Given the description of an element on the screen output the (x, y) to click on. 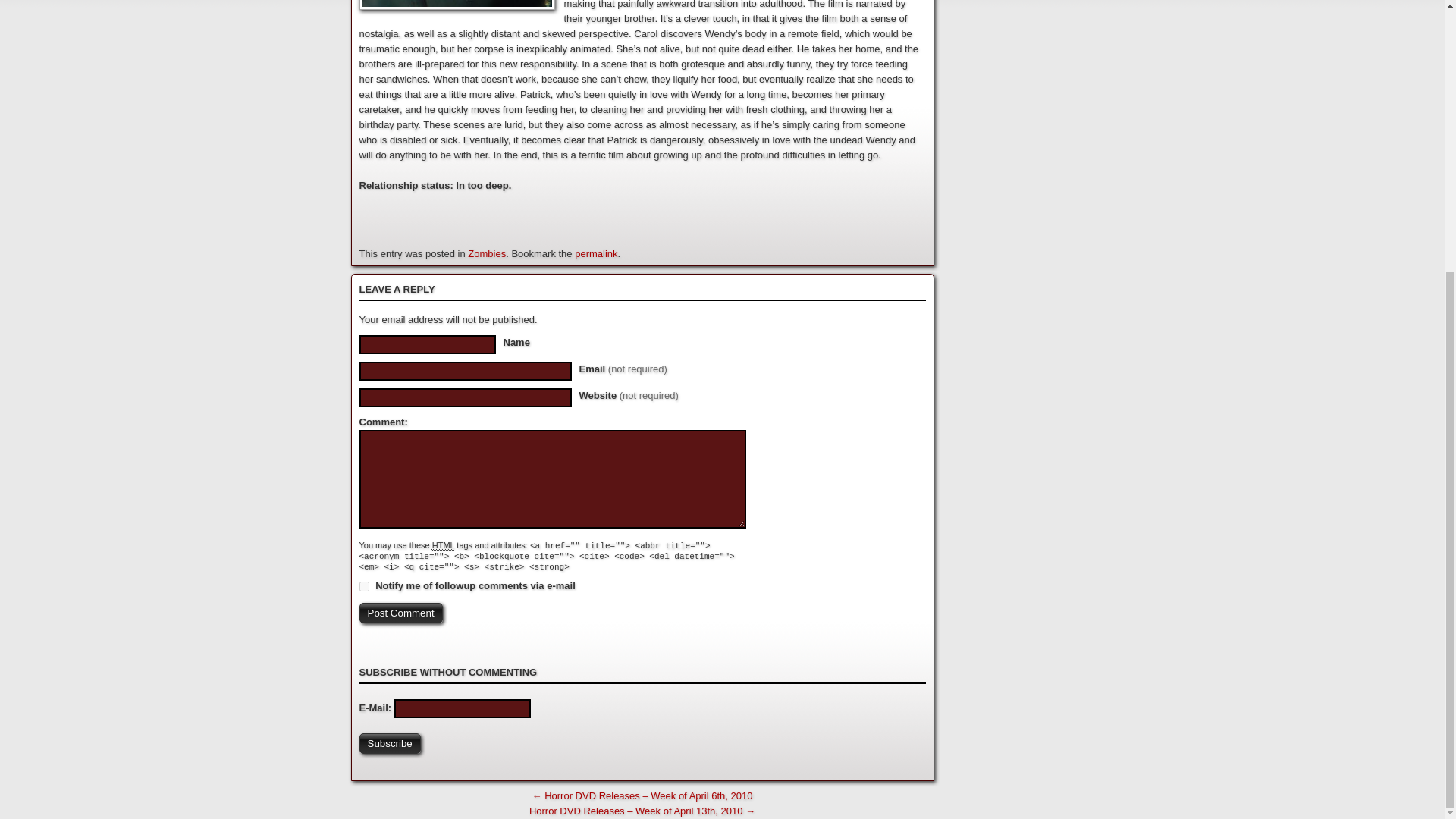
Zombies (486, 253)
Subscribe (389, 743)
permalink (596, 253)
Subscribe (389, 743)
subscribe (364, 586)
HyperText Markup Language (443, 545)
Post Comment (400, 612)
Post Comment (400, 612)
